Given the description of an element on the screen output the (x, y) to click on. 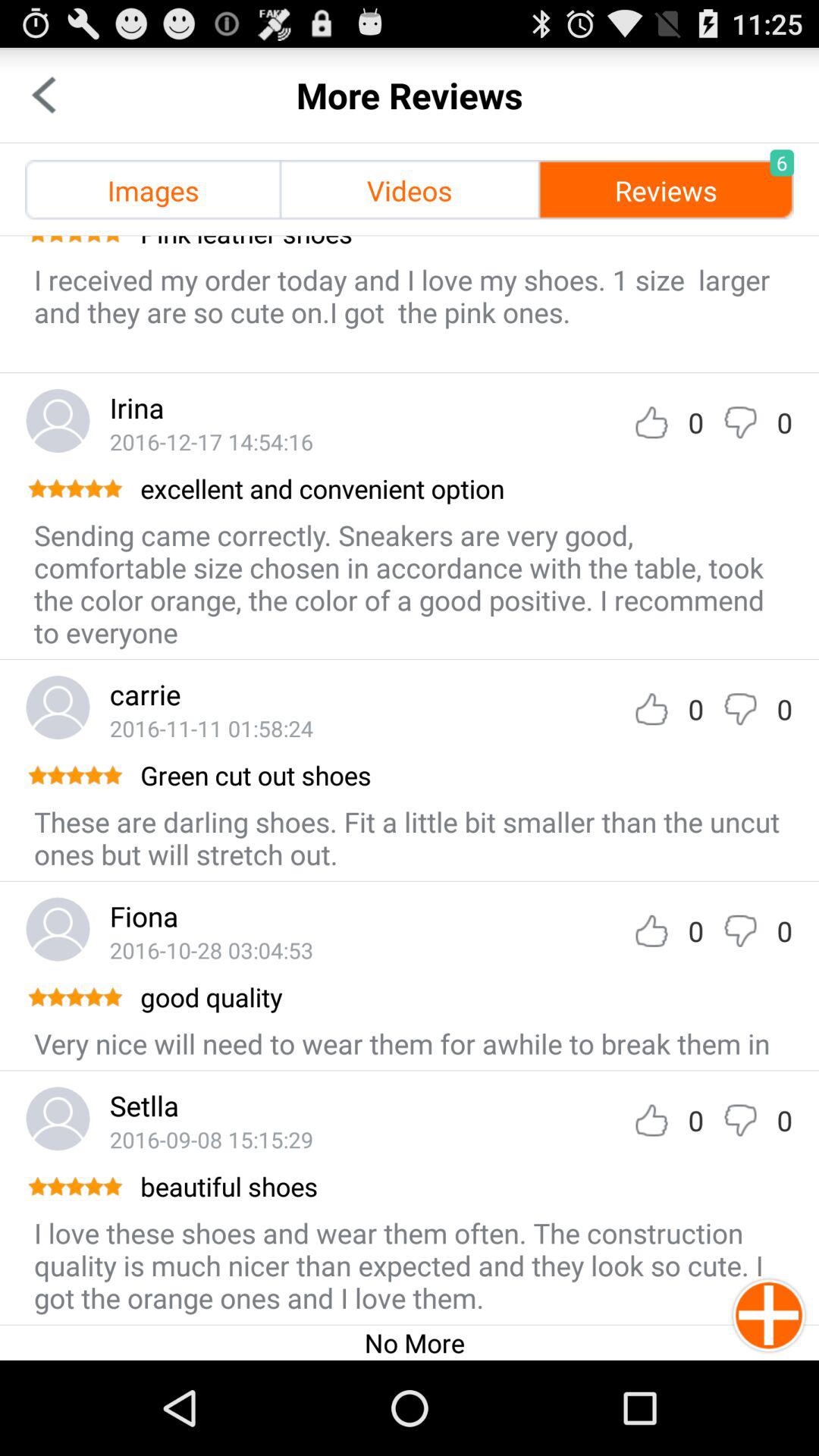
dislike review (740, 930)
